Given the description of an element on the screen output the (x, y) to click on. 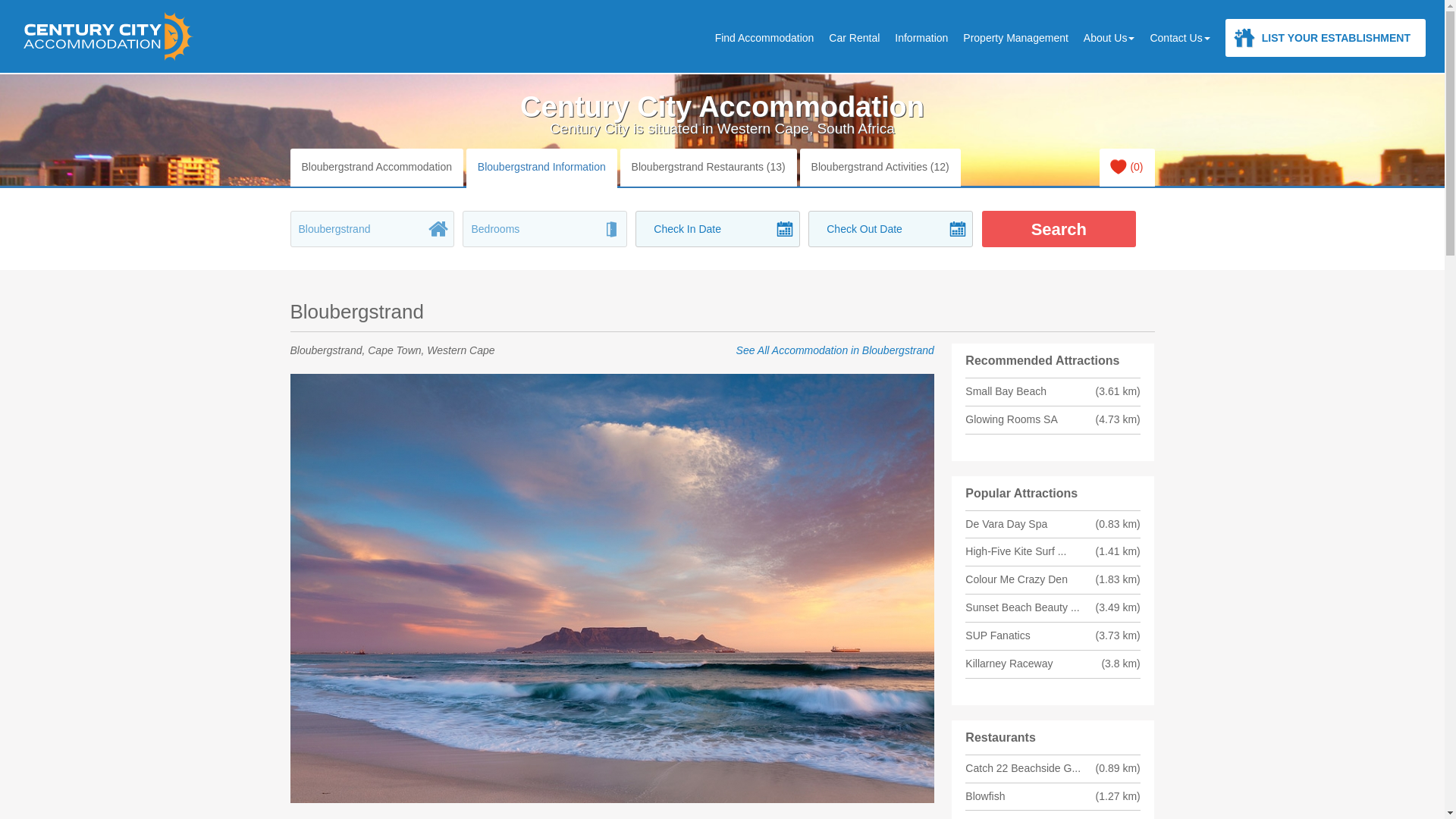
Contact Us (1179, 37)
See All Accommodation in Bloubergstrand (835, 349)
Find Accommodation (764, 37)
LIST YOUR ESTABLISHMENT (1325, 37)
Information (920, 37)
About Us (1108, 37)
Property Management (1015, 37)
Bloubergstrand Accommodation (376, 168)
Bloubergstrand Information (541, 168)
Search (1058, 228)
Car Rental (853, 37)
